Given the description of an element on the screen output the (x, y) to click on. 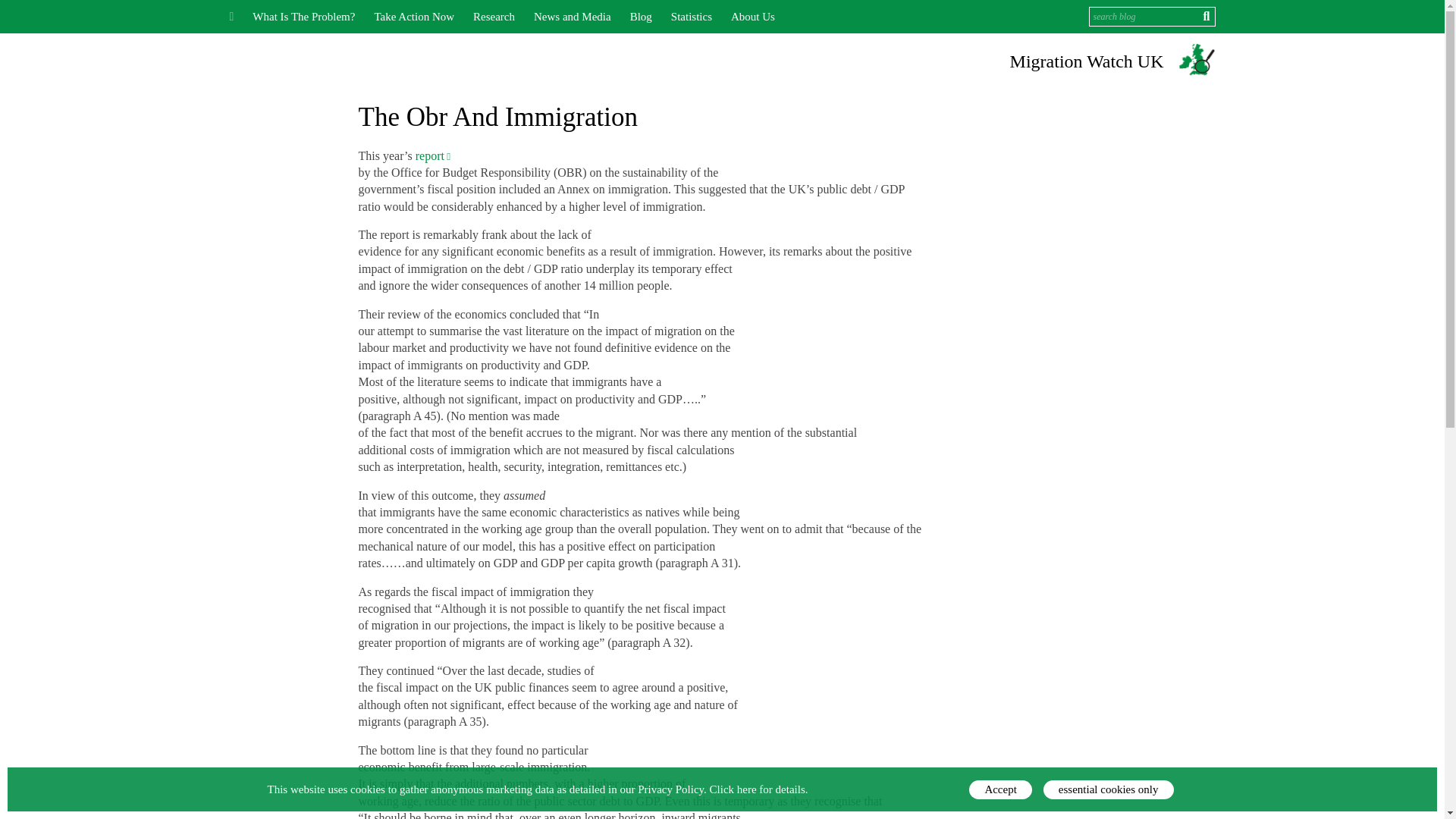
Research (494, 16)
About Us (752, 16)
News and Media (572, 16)
What Is The Problem? (303, 16)
Take Action Now (414, 16)
report (432, 155)
Statistics (691, 16)
